Given the description of an element on the screen output the (x, y) to click on. 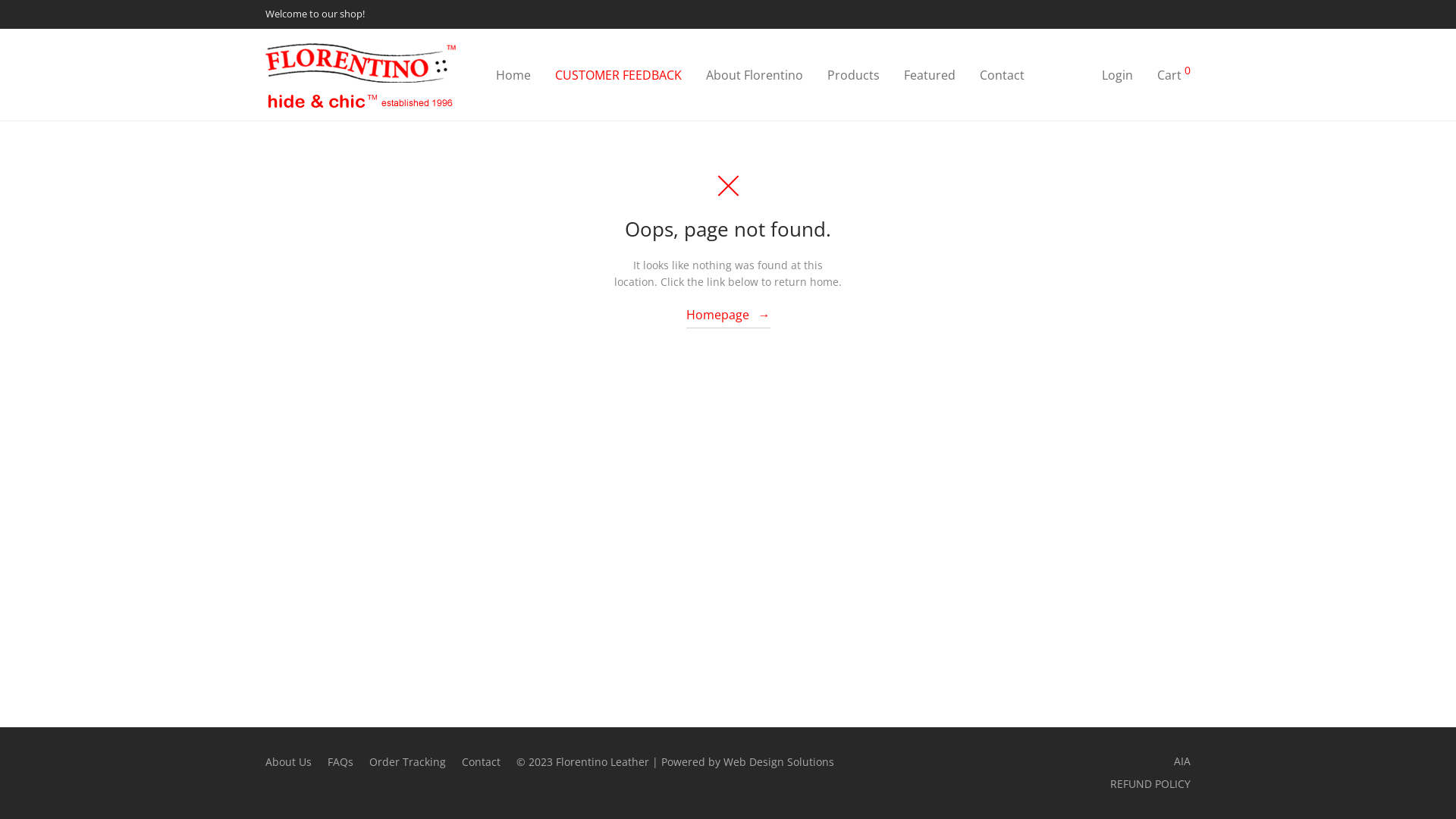
CUSTOMER FEEDBACK Element type: text (617, 74)
Home Element type: text (512, 74)
Contact Element type: text (488, 761)
Web Design Solutions Element type: text (778, 761)
Contact Element type: text (1001, 74)
Cart 0 Element type: text (1173, 74)
Products Element type: text (853, 74)
REFUND POLICY Element type: text (1150, 783)
AIA Element type: text (1181, 760)
About Us Element type: text (296, 761)
Login Element type: text (1117, 74)
Featured Element type: text (929, 74)
Order Tracking Element type: text (415, 761)
About Florentino Element type: text (754, 74)
FAQs Element type: text (348, 761)
